Given the description of an element on the screen output the (x, y) to click on. 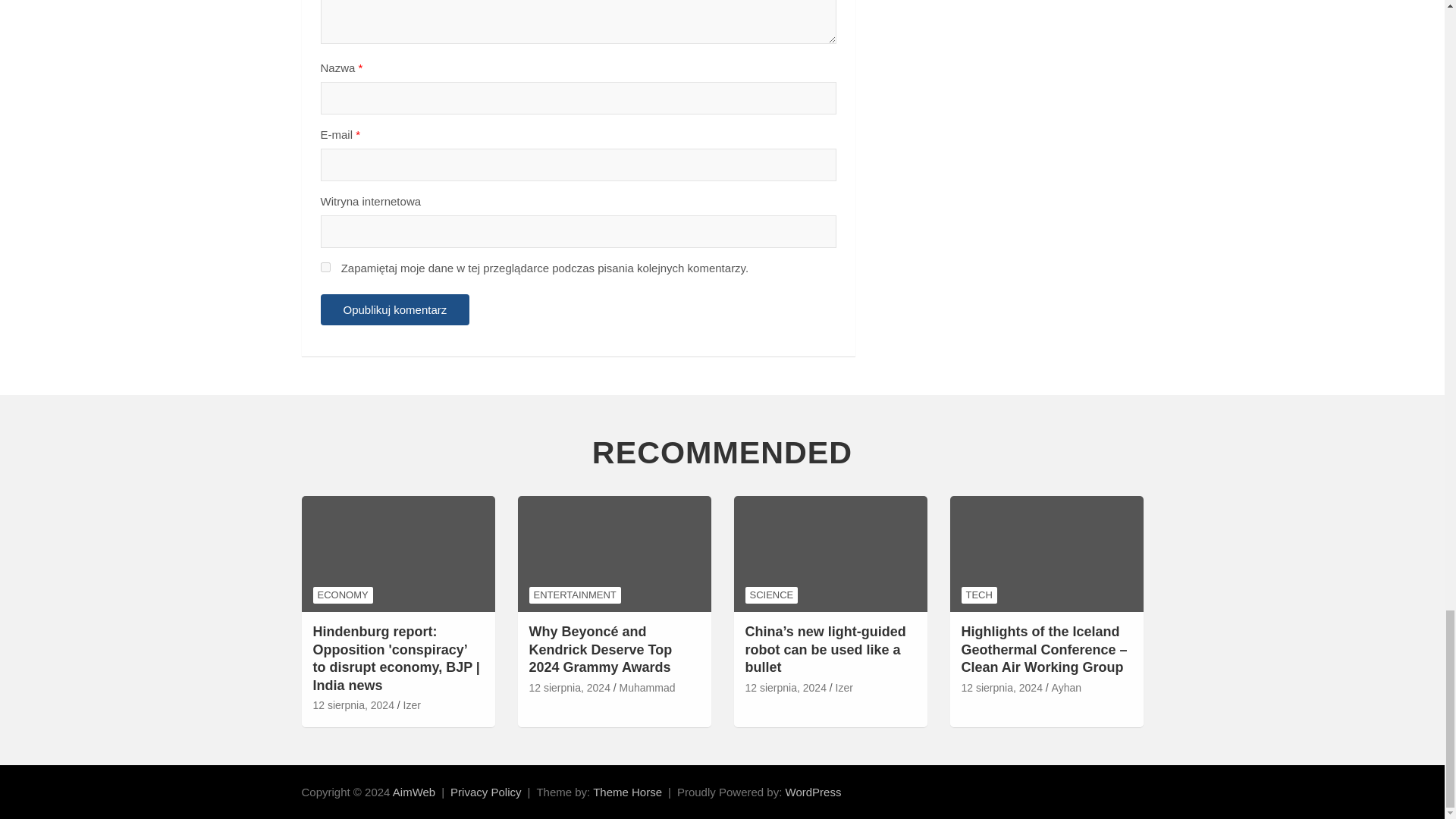
yes (325, 266)
ECONOMY (342, 595)
Theme Horse (627, 791)
Opublikuj komentarz (394, 309)
12 sierpnia, 2024 (353, 705)
WordPress (813, 791)
AimWeb (414, 791)
Opublikuj komentarz (394, 309)
